Given the description of an element on the screen output the (x, y) to click on. 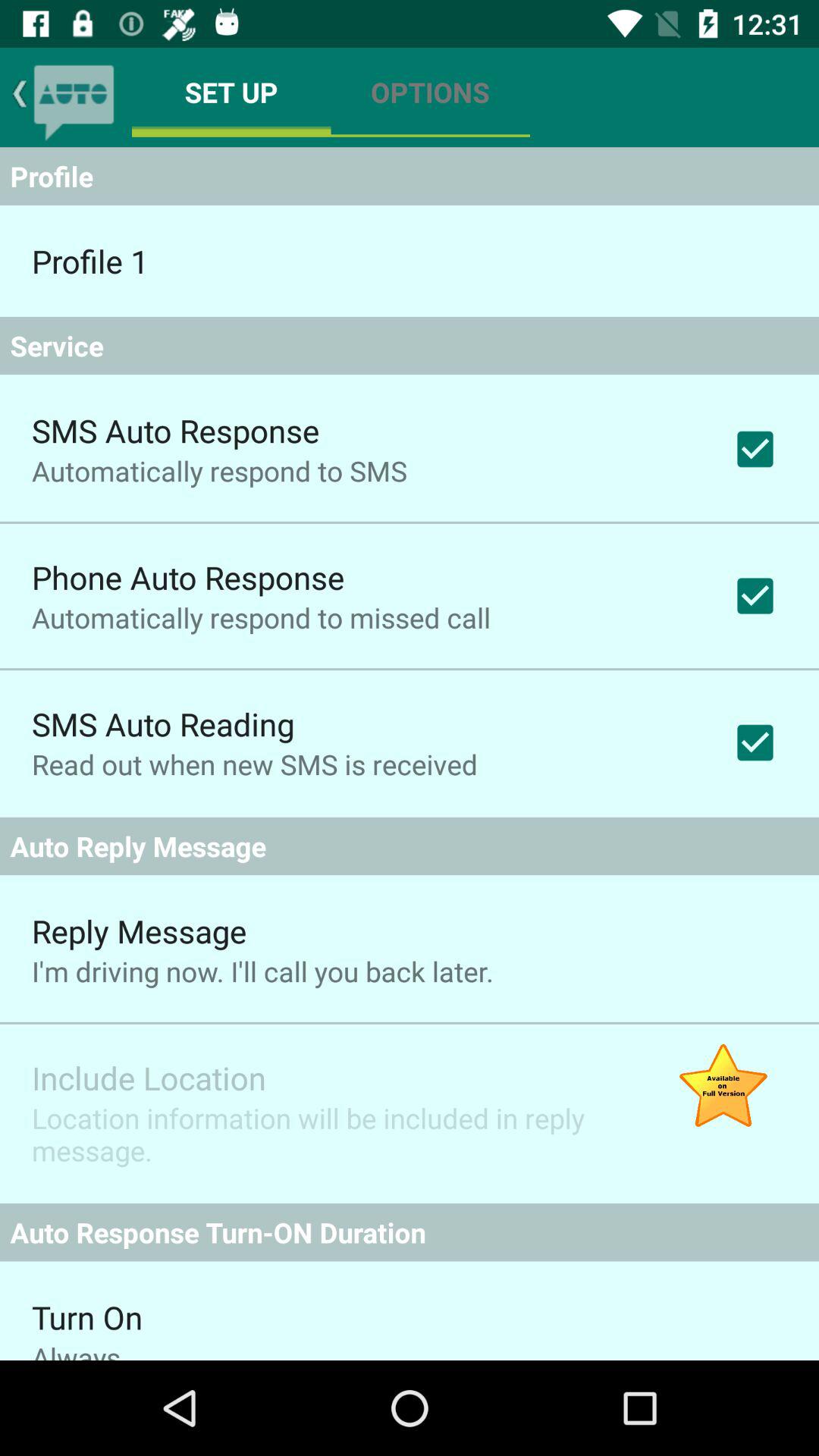
turn off the app below profile app (89, 260)
